Given the description of an element on the screen output the (x, y) to click on. 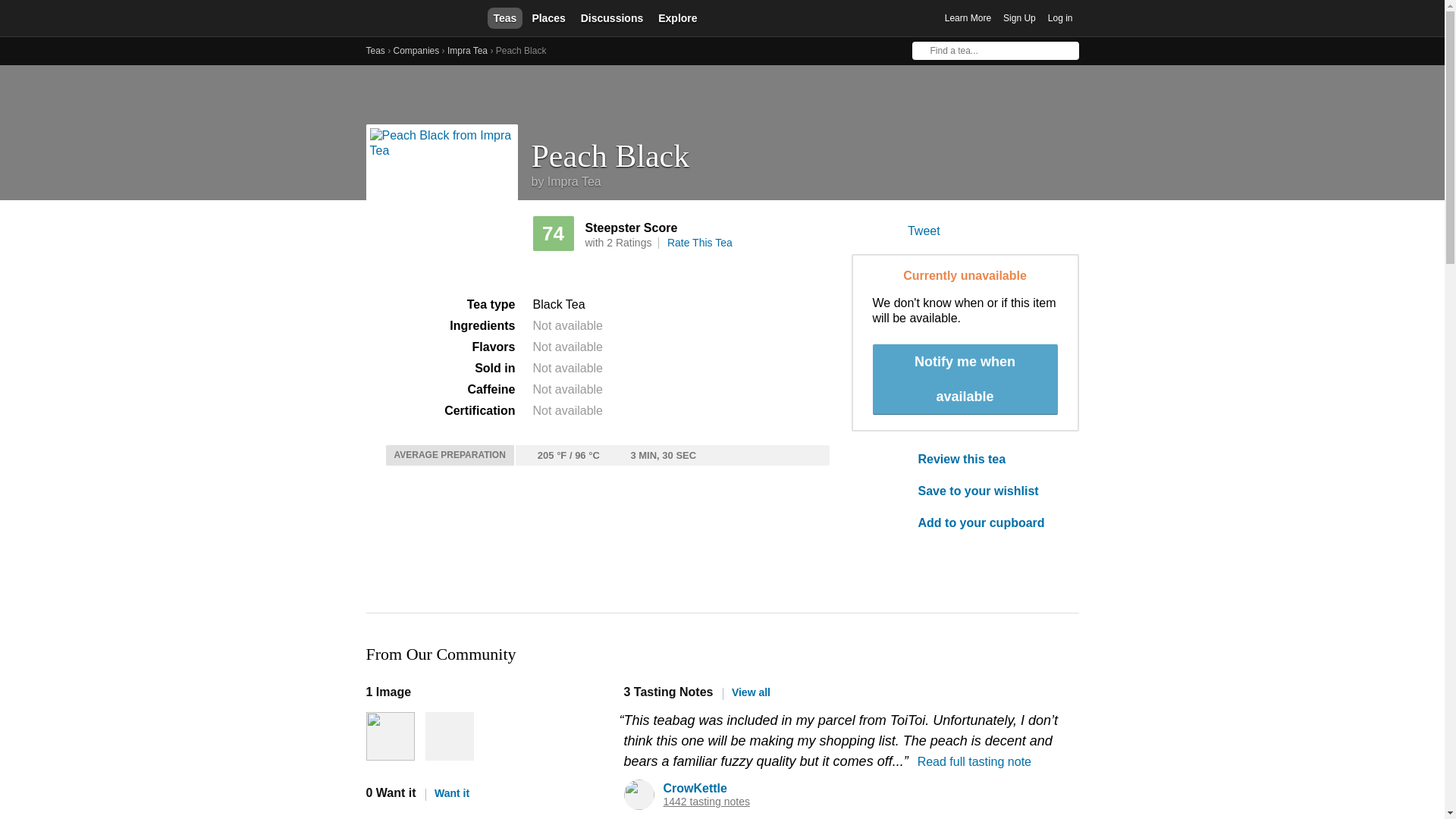
1442 tasting notes (705, 801)
Review this tea (986, 458)
Learn More (968, 18)
Save to your wishlist (986, 490)
Teas (504, 17)
CrowKettle (694, 787)
Want it (446, 793)
View all (746, 692)
by Impra Tea (565, 181)
Notify me when available (964, 378)
